Given the description of an element on the screen output the (x, y) to click on. 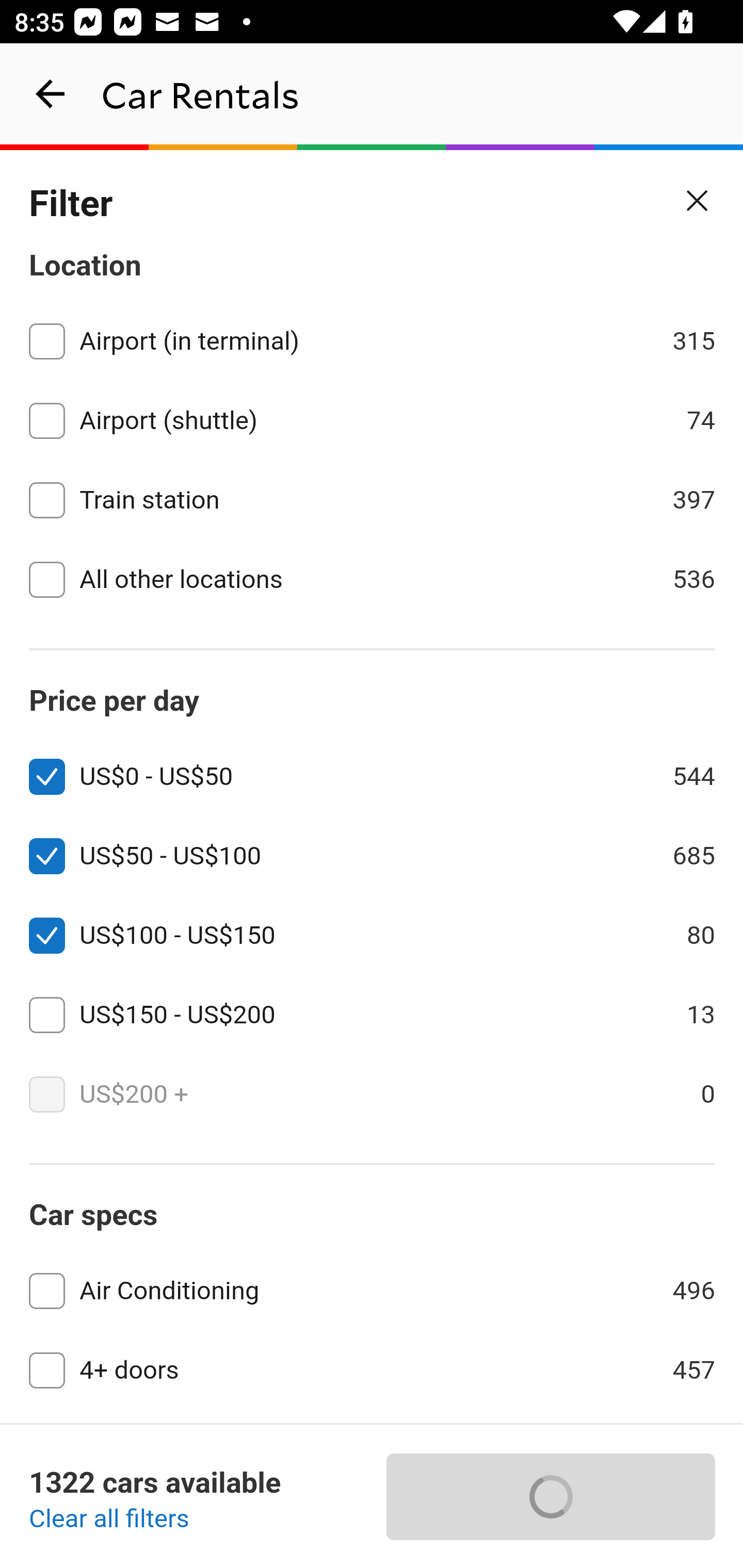
navigation_button (50, 93)
Close (697, 201)
Clear all filters (108, 1519)
